Given the description of an element on the screen output the (x, y) to click on. 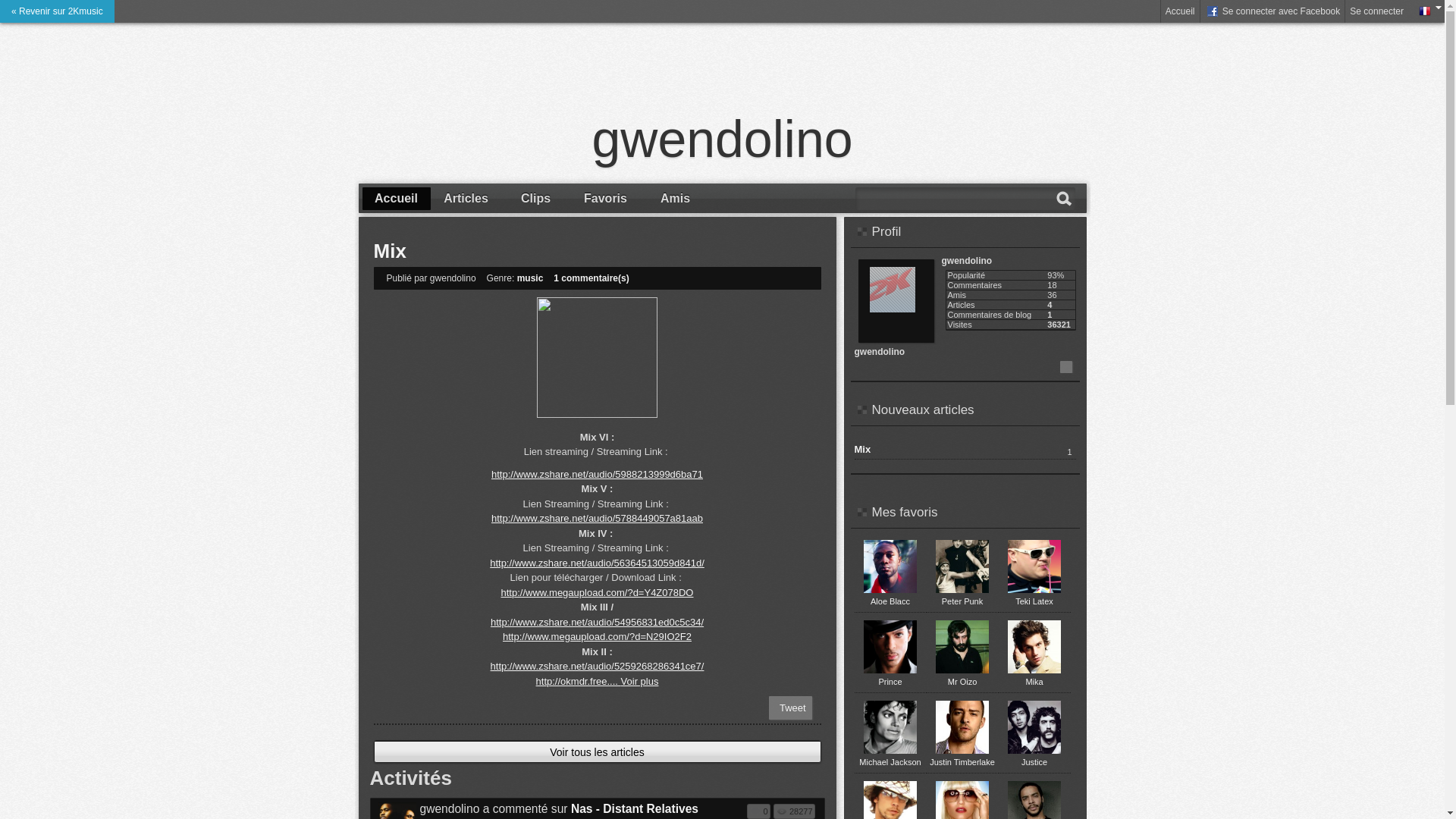
Favoris Element type: text (605, 198)
Clips Element type: text (536, 198)
Nas - Distant Relatives Element type: text (634, 808)
music Element type: text (530, 278)
http://www.zshare.net/audio/5788449057a81aab Element type: text (596, 518)
http://www.megaupload.com/?d=Y4Z078DO Element type: text (596, 592)
Mr Oizo Element type: text (962, 681)
http://www.megaupload.com/?d=N29IO2F2 Element type: text (596, 636)
http://www.zshare.net/audio/5259268286341ce7/ Element type: text (597, 665)
Accueil Element type: text (1180, 11)
http://www.zshare.net/audio/54956831ed0c5c34/ Element type: text (596, 621)
Accueil Element type: text (396, 198)
Articles Element type: text (466, 198)
Mix Element type: text (861, 449)
Tweet Element type: text (792, 707)
Prince Element type: text (889, 681)
Teki Latex Element type: text (1034, 600)
Aloe Blacc Element type: text (890, 600)
Peter Punk Element type: text (961, 600)
http://www.zshare.net/audio/5988213999d6ba71 Element type: text (596, 474)
gwendolino Element type: text (722, 138)
Mix Element type: text (389, 250)
Justin Timberlake Element type: text (961, 761)
Se connecter Element type: text (1376, 11)
Mika Element type: text (1033, 681)
Justice Element type: text (1034, 761)
http://okmdr.free.... Element type: text (578, 680)
Michael Jackson Element type: text (889, 761)
Voir plus Element type: text (639, 680)
Voir tous les articles Element type: text (597, 751)
Amis Element type: text (675, 198)
 Se connecter avec Facebook Element type: text (1272, 11)
1 commentaire(s) Element type: text (590, 278)
http://www.zshare.net/audio/56364513059d841d/ Element type: text (596, 561)
